Given the description of an element on the screen output the (x, y) to click on. 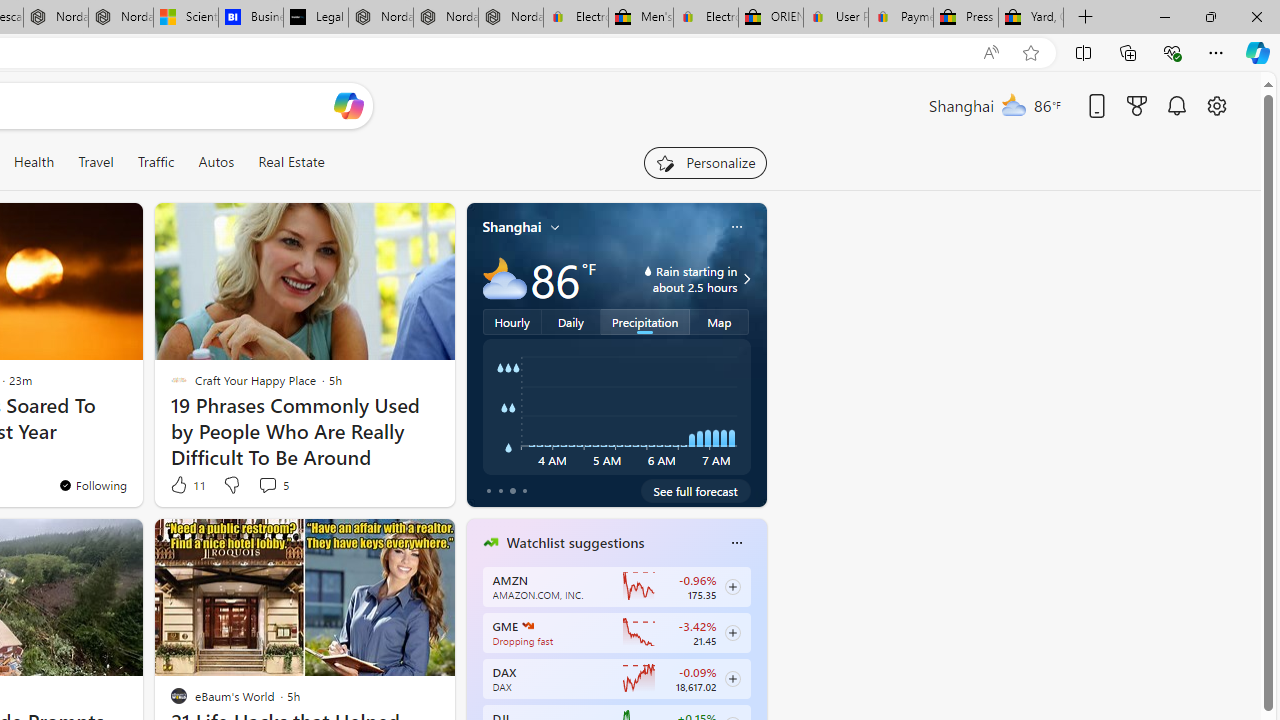
Mostly cloudy (504, 278)
View comments 5 Comment (272, 484)
Class: icon-img (736, 542)
User Privacy Notice | eBay (835, 17)
Traffic (155, 161)
Microsoft rewards (1137, 105)
Travel (95, 162)
previous (476, 670)
You're following The Weather Channel (92, 485)
Press Room - eBay Inc. (966, 17)
Watchlist suggestions (575, 543)
Yard, Garden & Outdoor Living (1030, 17)
